Given the description of an element on the screen output the (x, y) to click on. 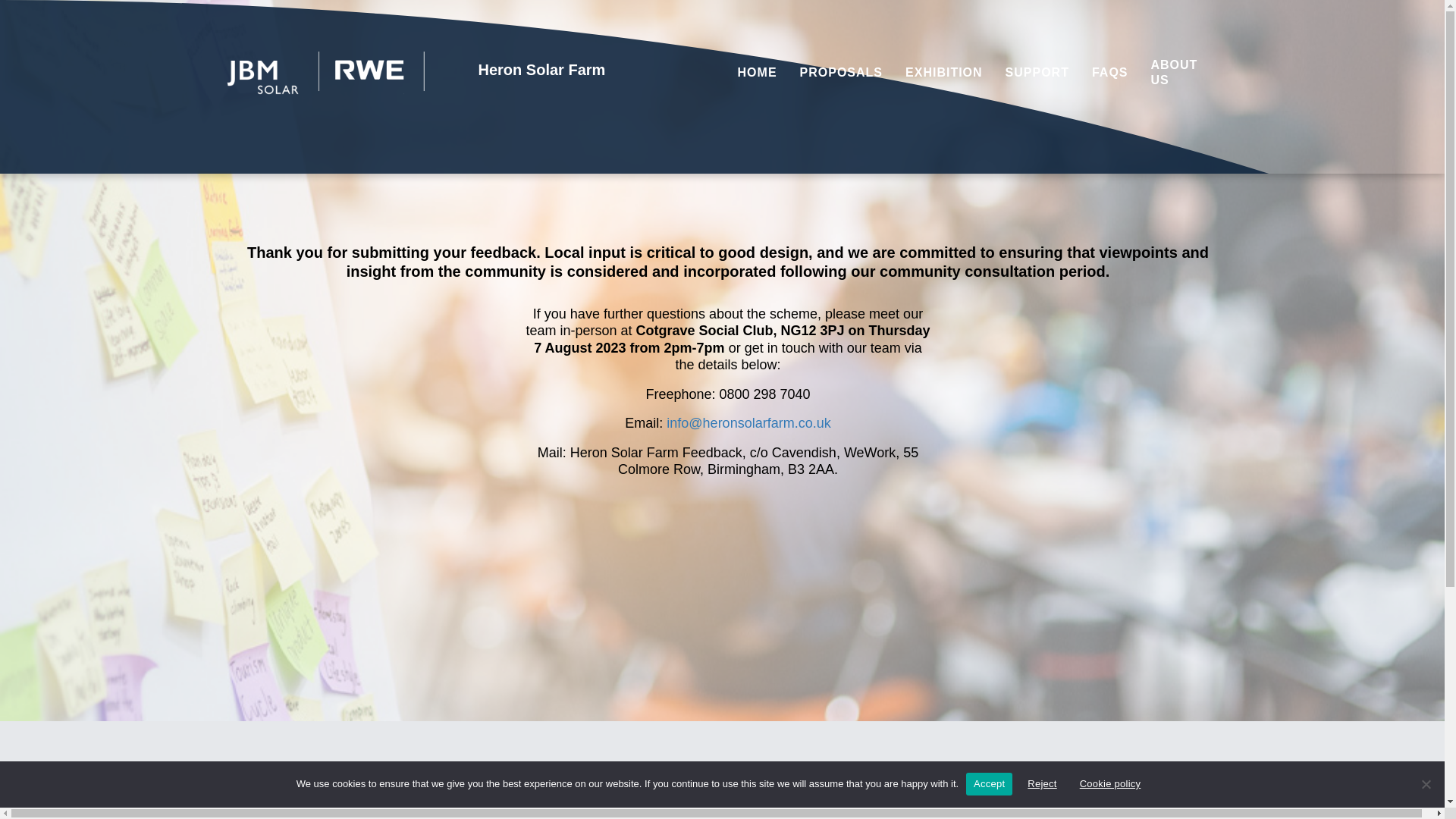
PROPOSALS (841, 72)
Reject (1042, 783)
Cookie policy (1109, 783)
SUPPORT (1037, 72)
EXHIBITION (943, 72)
ABOUT US (1180, 72)
FAQS (1110, 72)
Reject (1425, 783)
HOME (757, 72)
Accept (988, 783)
